Given the description of an element on the screen output the (x, y) to click on. 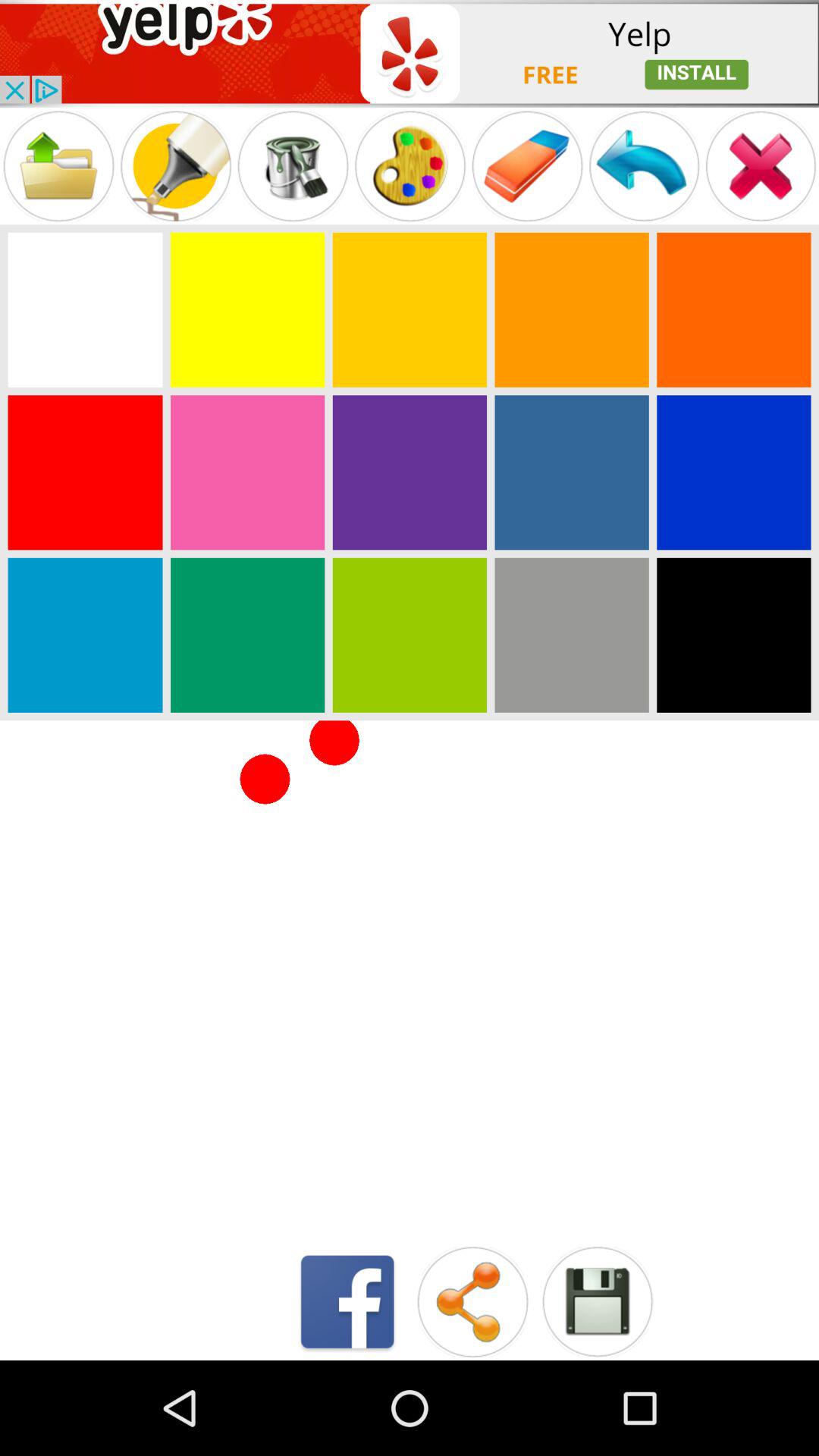
brush icon (292, 165)
